Given the description of an element on the screen output the (x, y) to click on. 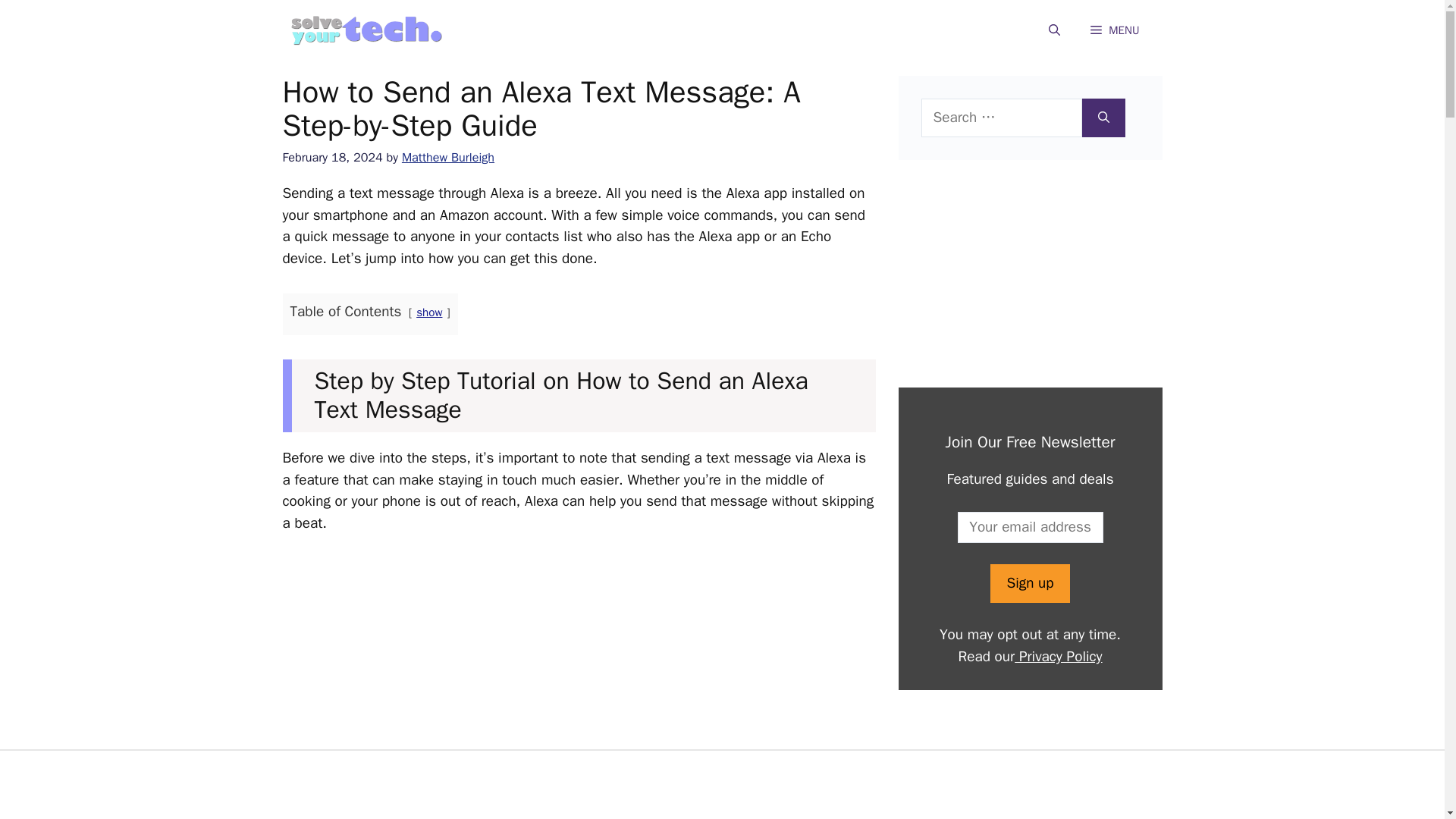
Sign up (1029, 583)
MENU (1114, 30)
Matthew Burleigh (448, 157)
show (429, 312)
